Given the description of an element on the screen output the (x, y) to click on. 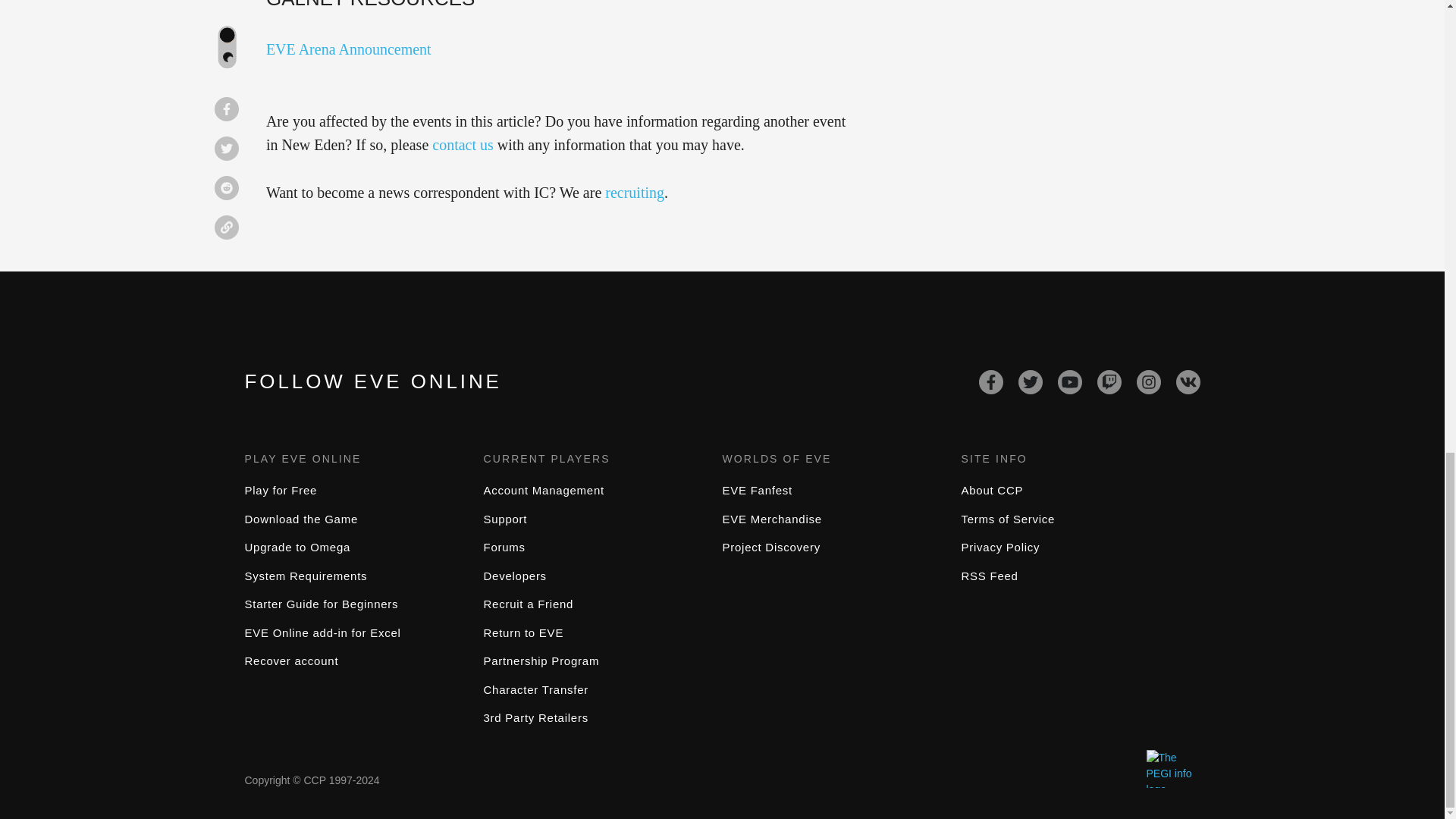
EVE Online add-in for Excel (322, 631)
Starter Guide for Beginners (320, 603)
Twitch (1108, 381)
YouTube (1069, 381)
Visit the PEGI webpage (1173, 768)
Upgrade to Omega (297, 546)
contact us (462, 144)
System Requirements (305, 575)
Facebook (990, 381)
Download the Game (301, 517)
